Given the description of an element on the screen output the (x, y) to click on. 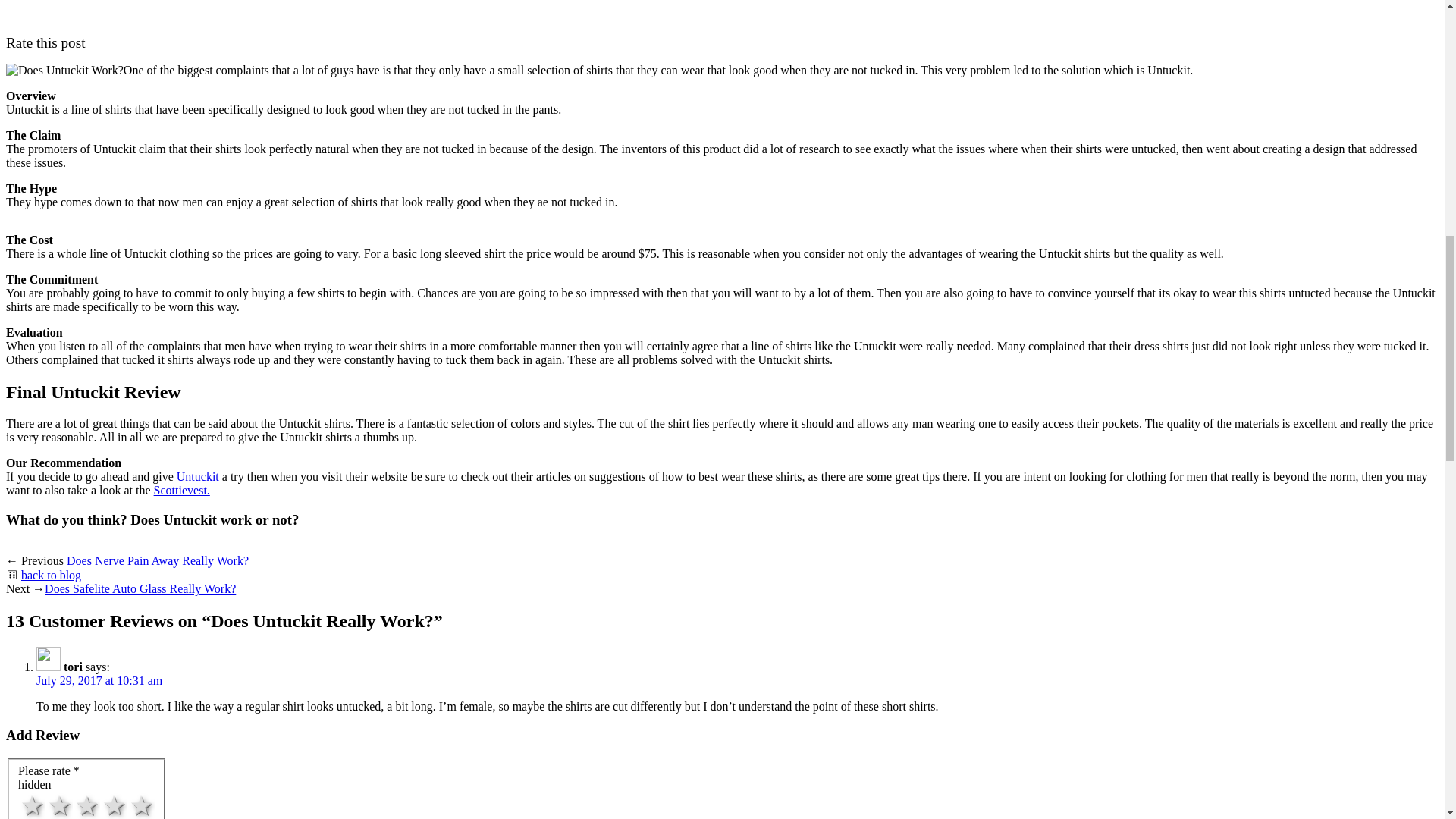
Does Safelite Auto Glass Really Work? (140, 588)
Good (114, 805)
Great (141, 805)
Normal (86, 805)
Does Nerve Pain Away Really Work? (156, 560)
3 (26, 798)
So-so (58, 805)
July 29, 2017 at 10:31 am (98, 680)
1 (26, 798)
5 (26, 798)
Untuckit (199, 476)
back to blog (51, 574)
2 (26, 798)
Scottievest. (181, 490)
4 (26, 798)
